Given the description of an element on the screen output the (x, y) to click on. 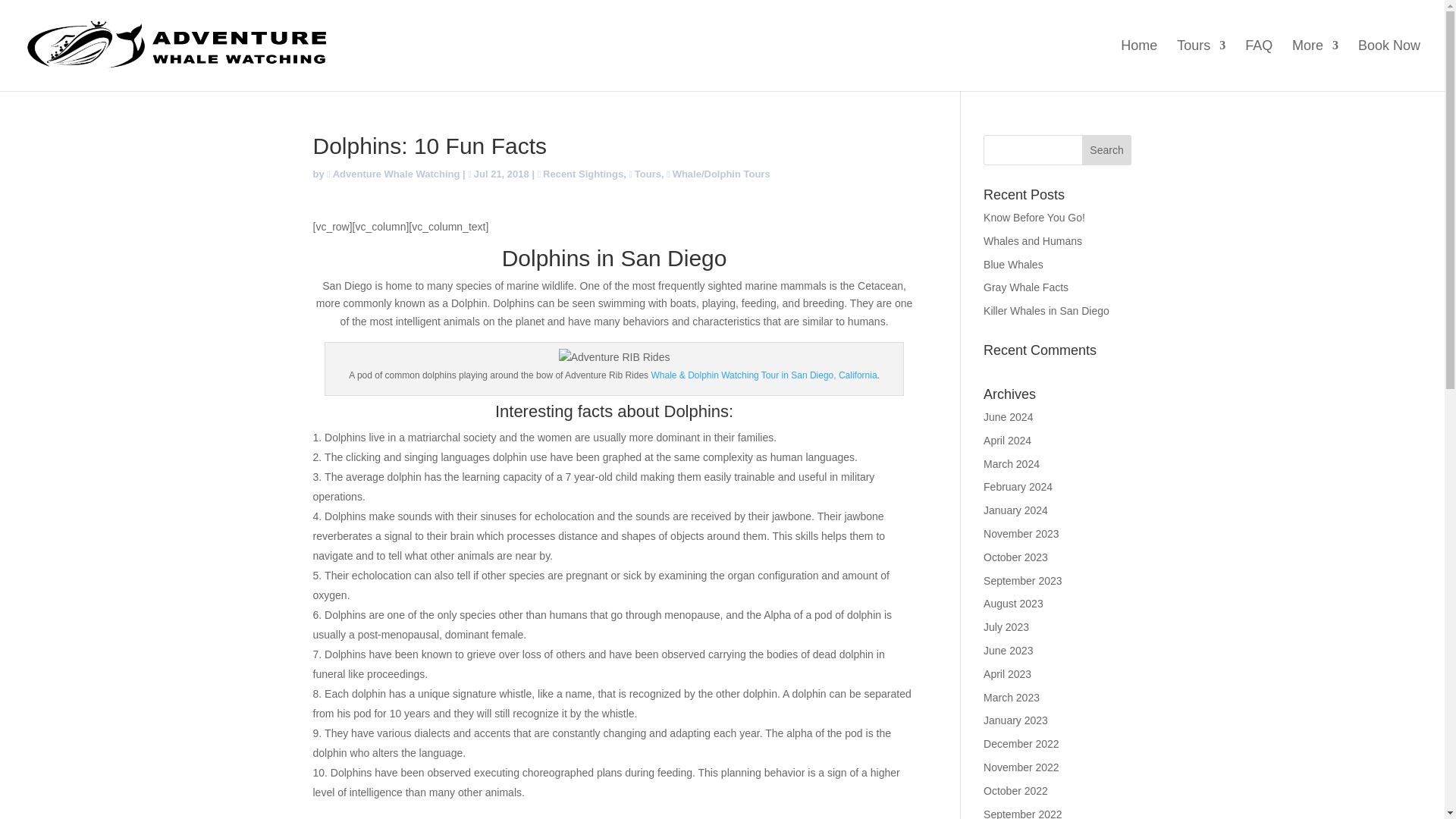
Adventure Whale Watching (393, 173)
Search (1106, 150)
Tours (1200, 65)
Whales and Humans (1032, 241)
Recent Sightings (580, 173)
Tours (644, 173)
Search (1106, 150)
Know Before You Go! (1034, 217)
Posts by Adventure Whale Watching (393, 173)
More (1315, 65)
Book Now (1389, 65)
